Given the description of an element on the screen output the (x, y) to click on. 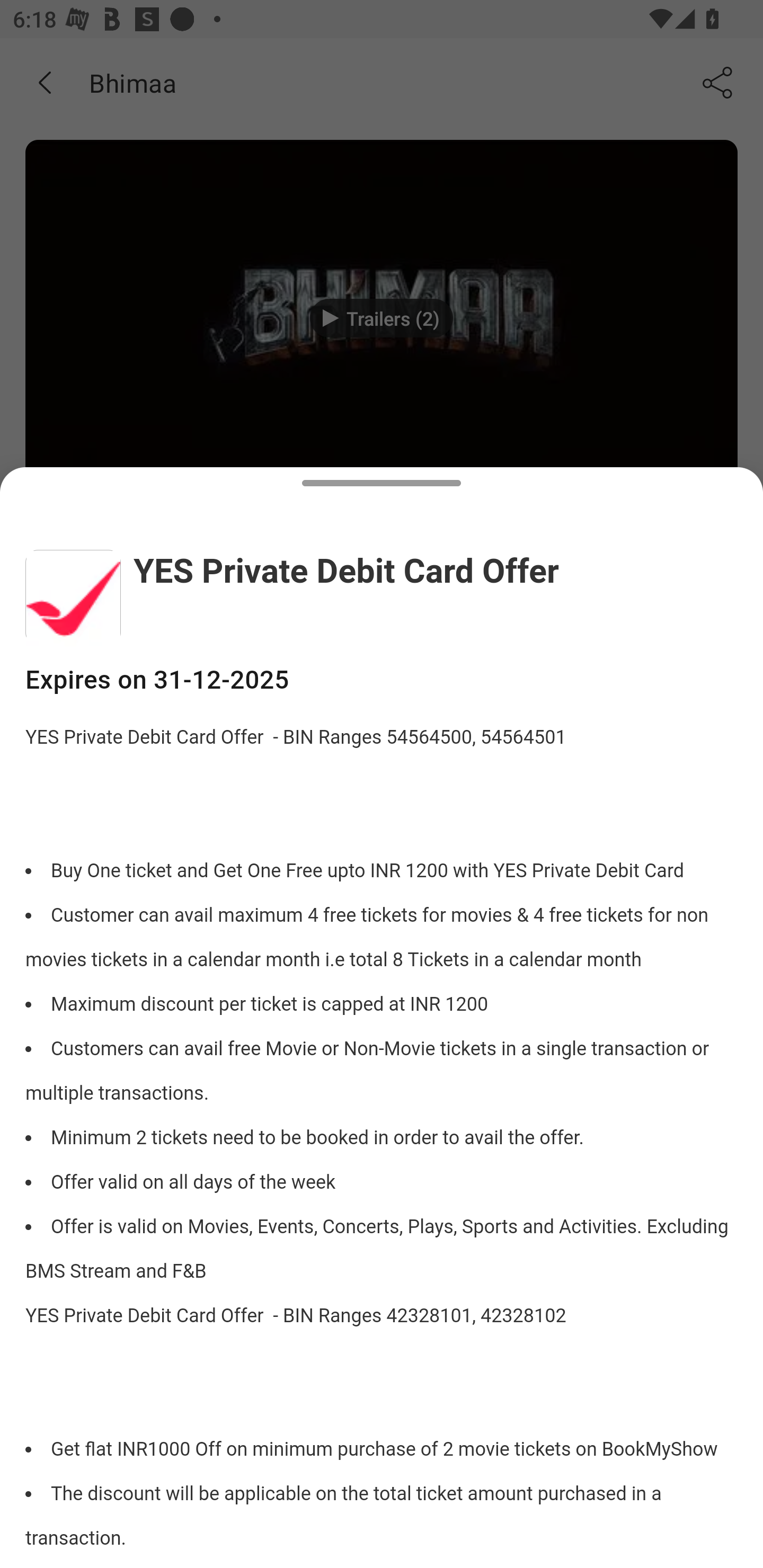
Expires on 31-12-2025 (381, 680)
